Given the description of an element on the screen output the (x, y) to click on. 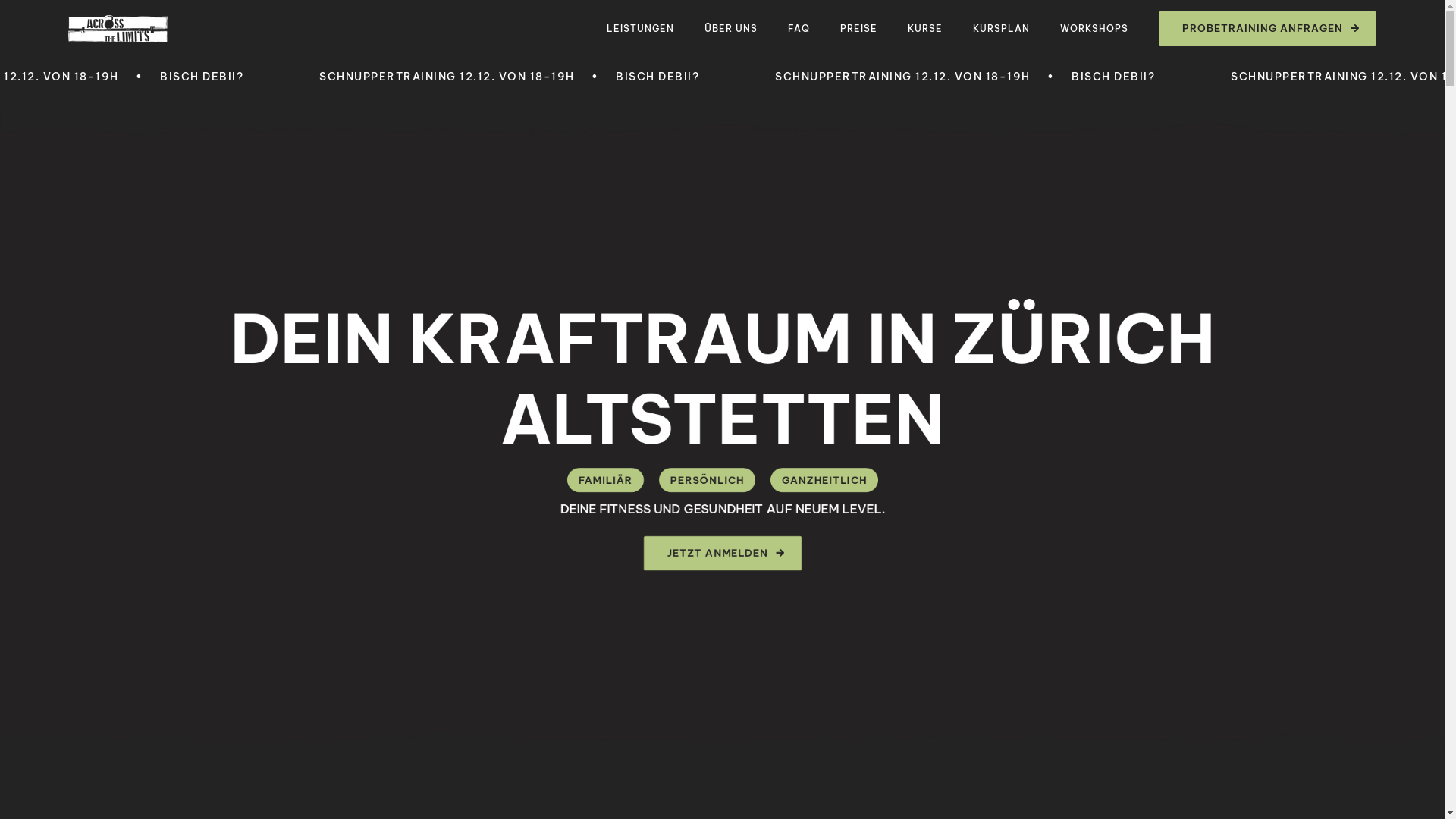
PREISE Element type: text (873, 28)
JETZT ANMELDEN Element type: text (721, 553)
PROBETRAINING ANFRAGEN Element type: text (1267, 28)
LEISTUNGEN Element type: text (655, 28)
KURSPLAN Element type: text (1016, 28)
KURSE Element type: text (939, 28)
WORKSHOPS Element type: text (1109, 28)
FAQ Element type: text (813, 28)
